Given the description of an element on the screen output the (x, y) to click on. 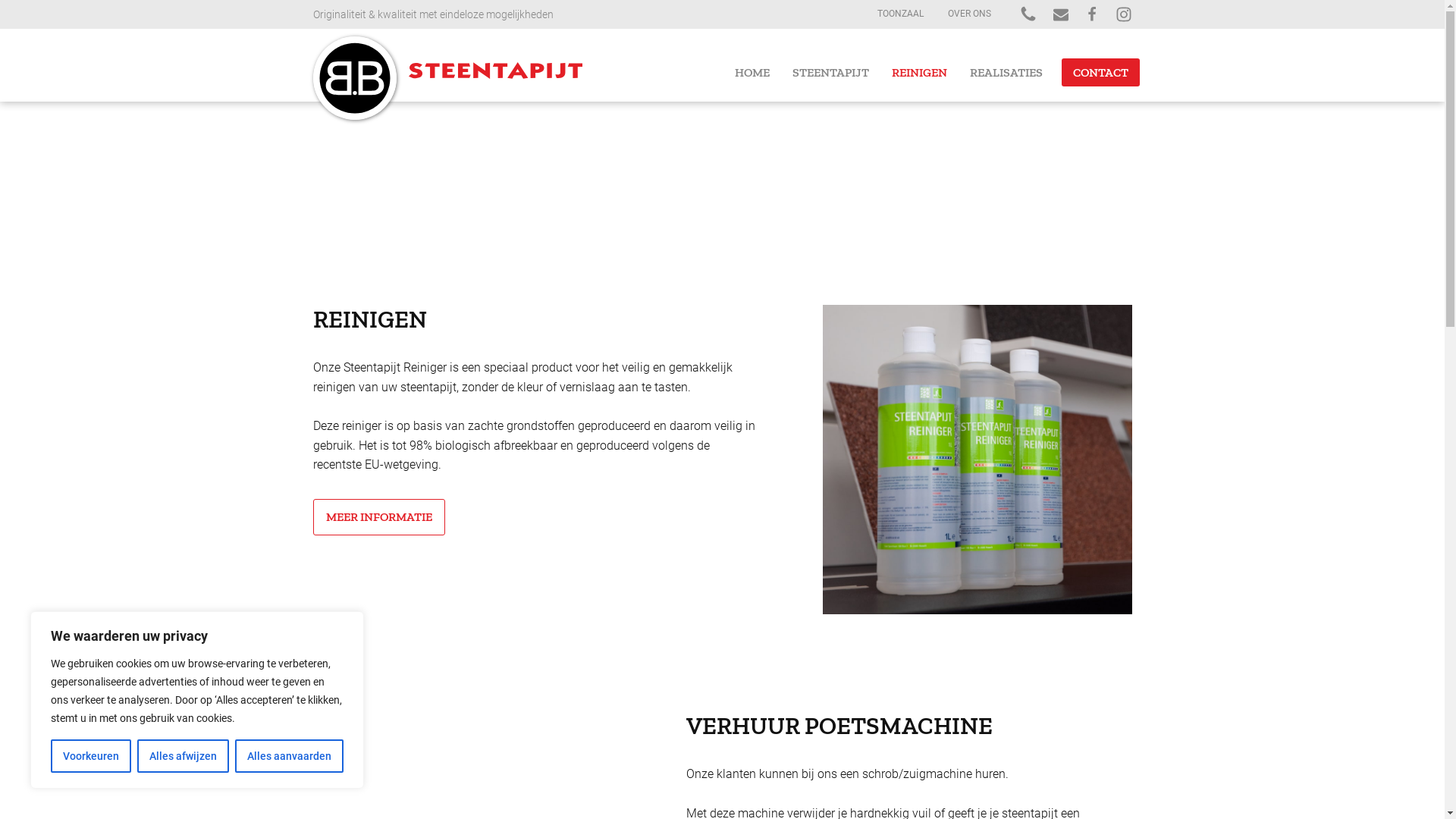
REINIGEN Element type: text (918, 72)
MEER INFORMATIE Element type: text (378, 516)
HOME Element type: text (752, 72)
TOONZAAL Element type: text (899, 13)
REALISATIES Element type: text (1006, 72)
CONTACT Element type: text (1100, 72)
Alles aanvaarden Element type: text (289, 755)
OVER ONS Element type: text (969, 13)
STEENTAPIJT Element type: text (830, 72)
Alles afwijzen Element type: text (183, 755)
Voorkeuren Element type: text (90, 755)
